Given the description of an element on the screen output the (x, y) to click on. 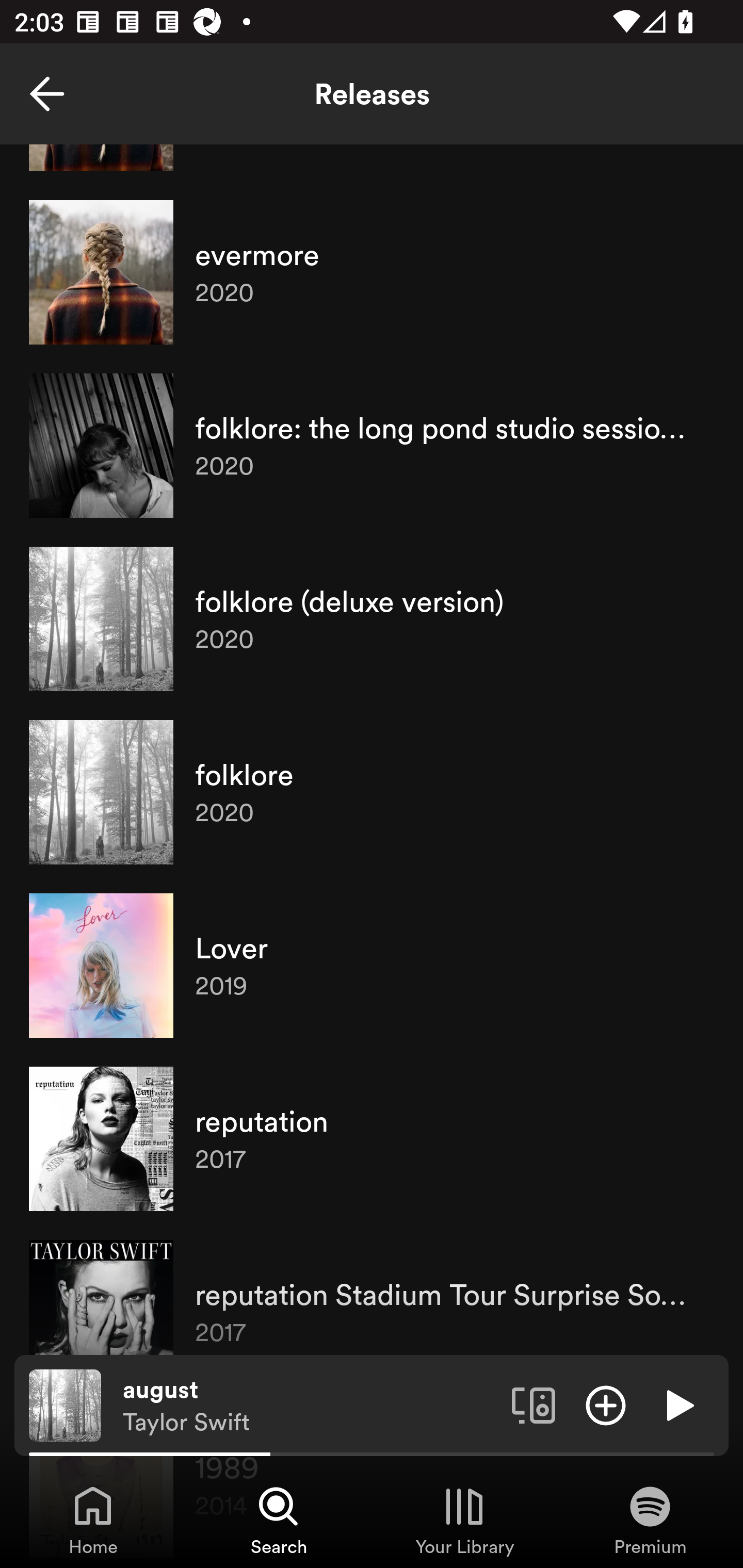
Back (46, 93)
evermore 2020 (371, 272)
folklore (deluxe version) 2020 (371, 618)
folklore 2020 (371, 792)
Lover 2019 (371, 965)
reputation 2017 (371, 1139)
august Taylor Swift (309, 1405)
The cover art of the currently playing track (64, 1404)
Connect to a device. Opens the devices menu (533, 1404)
Add item (605, 1404)
Play (677, 1404)
Home, Tab 1 of 4 Home Home (92, 1519)
Search, Tab 2 of 4 Search Search (278, 1519)
Your Library, Tab 3 of 4 Your Library Your Library (464, 1519)
Premium, Tab 4 of 4 Premium Premium (650, 1519)
